Given the description of an element on the screen output the (x, y) to click on. 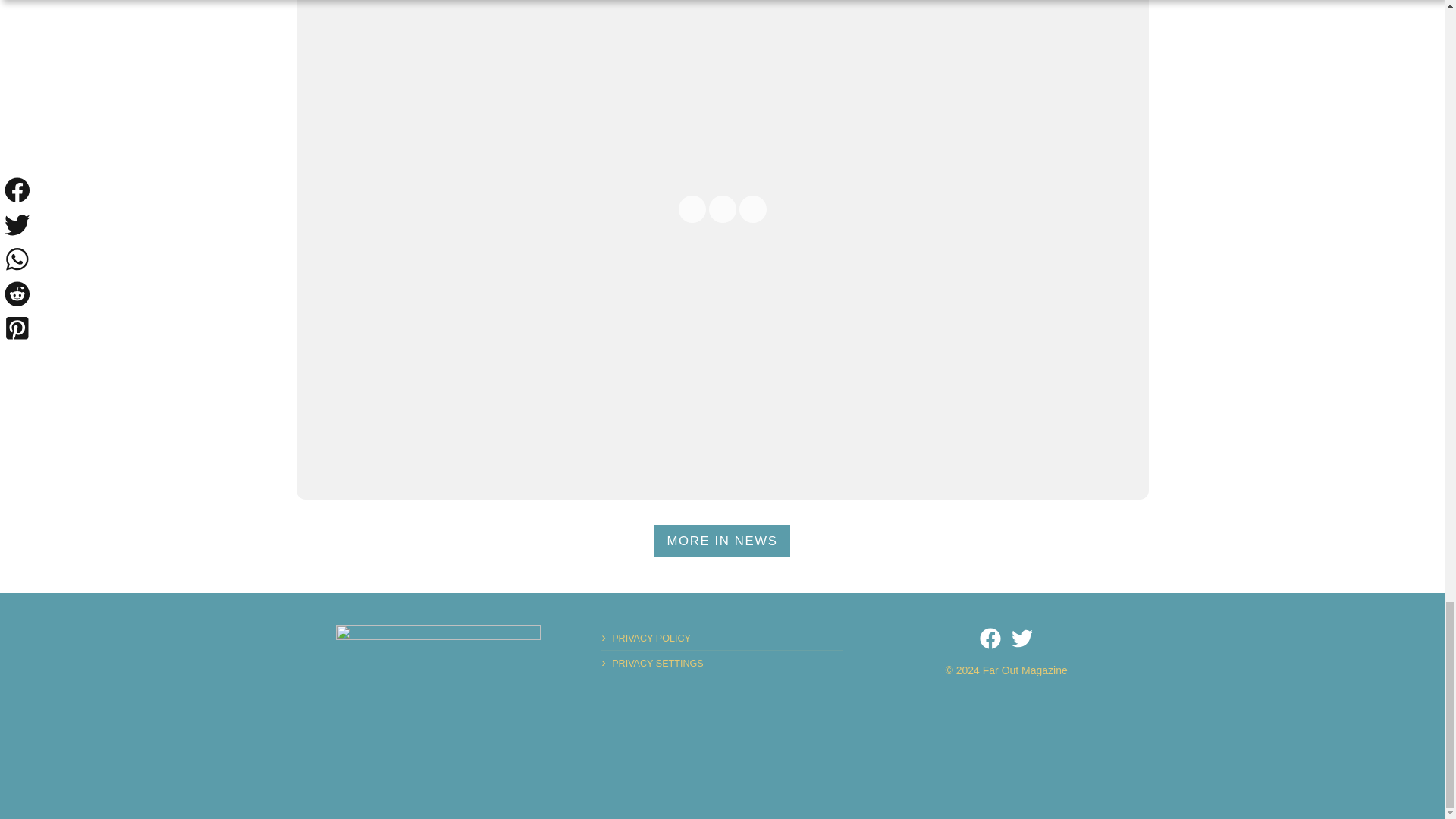
More in News (721, 540)
Hip Hop Hero on Twitter (1021, 638)
Hip Hop Hero (438, 673)
Hip Hop Hero on Facebook (990, 638)
